Given the description of an element on the screen output the (x, y) to click on. 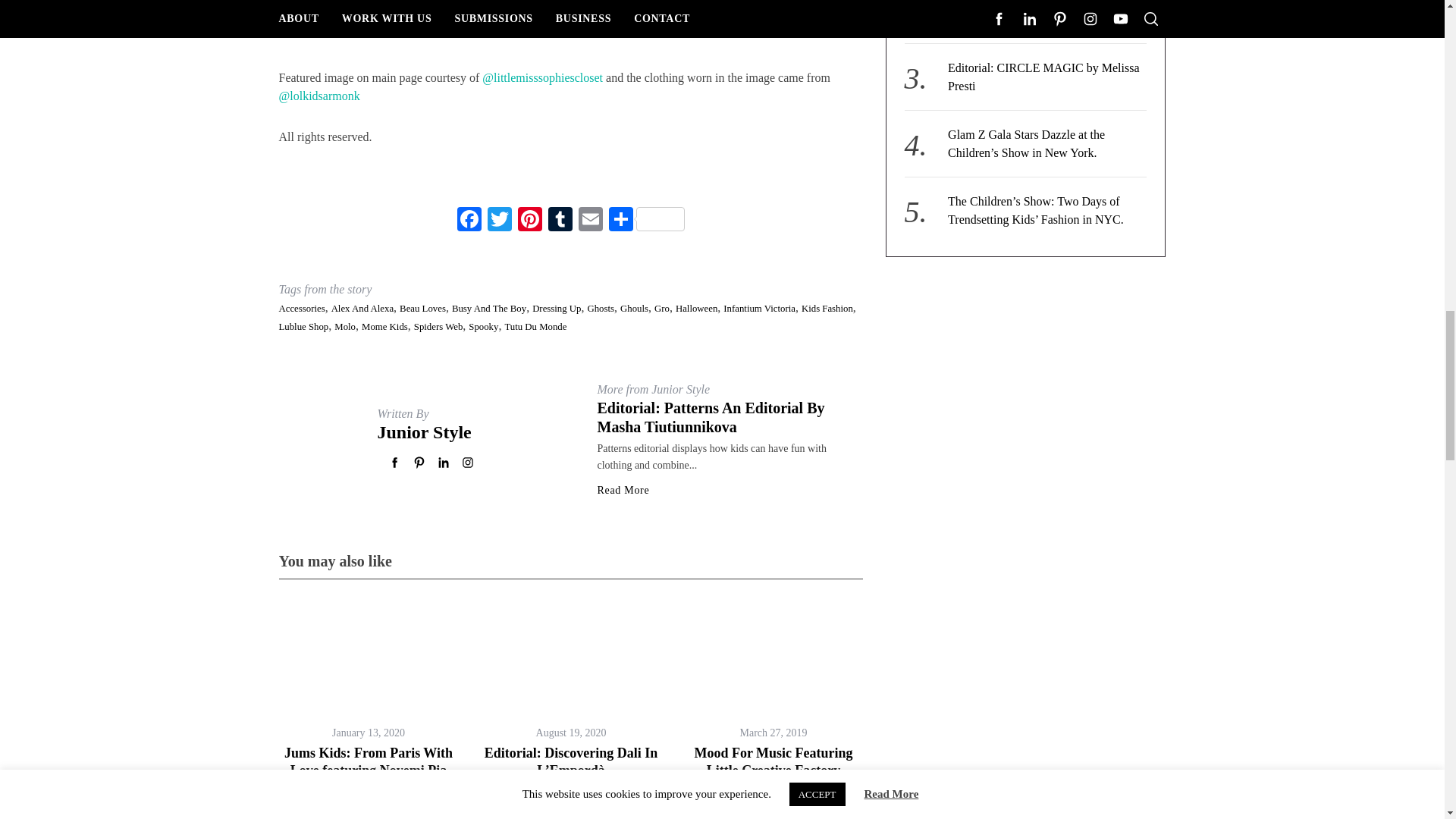
Twitter (498, 221)
Tumblr (559, 221)
Pinterest (528, 221)
Email (590, 221)
Facebook (467, 221)
